Given the description of an element on the screen output the (x, y) to click on. 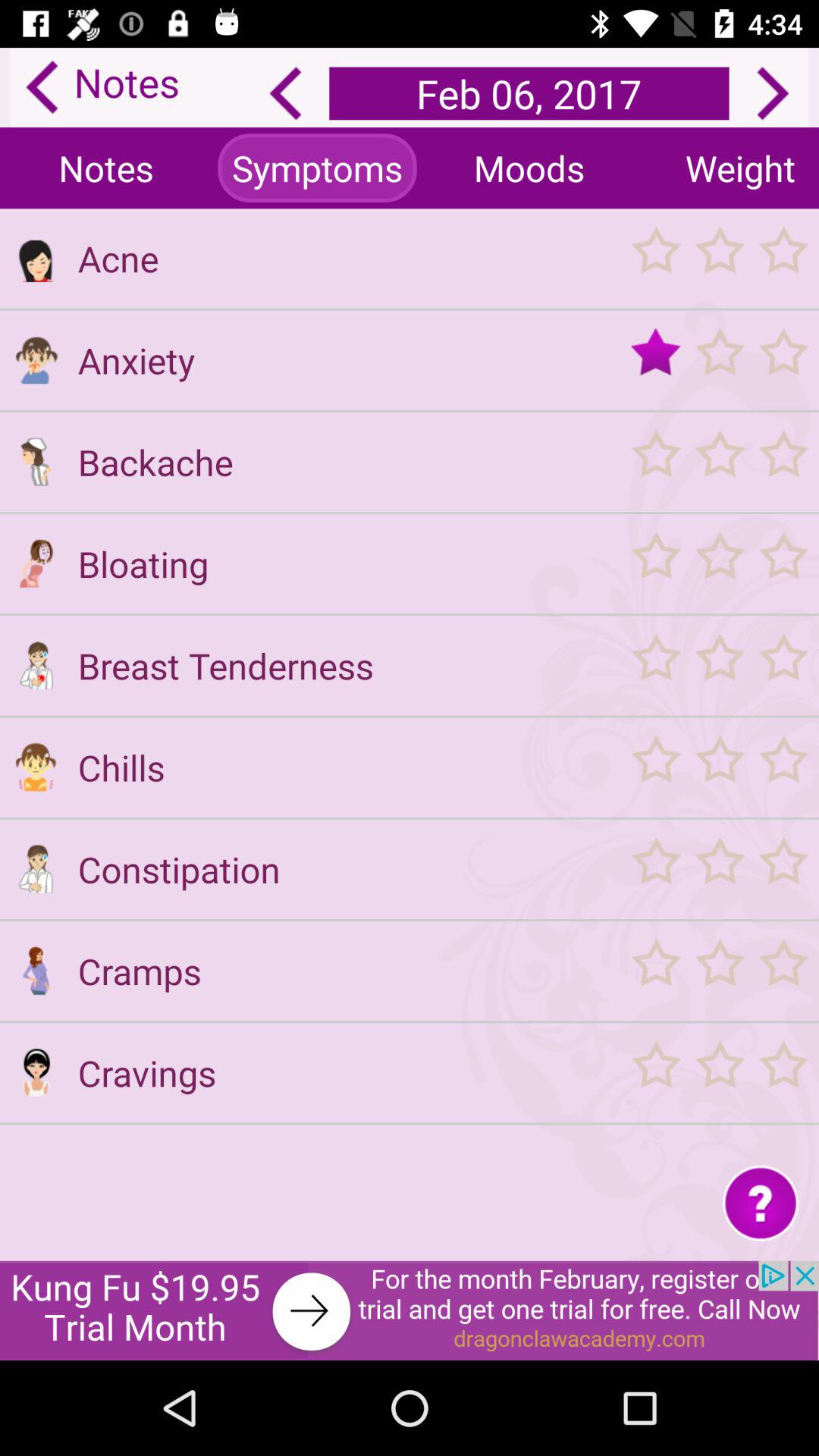
question symbol (760, 1202)
